Given the description of an element on the screen output the (x, y) to click on. 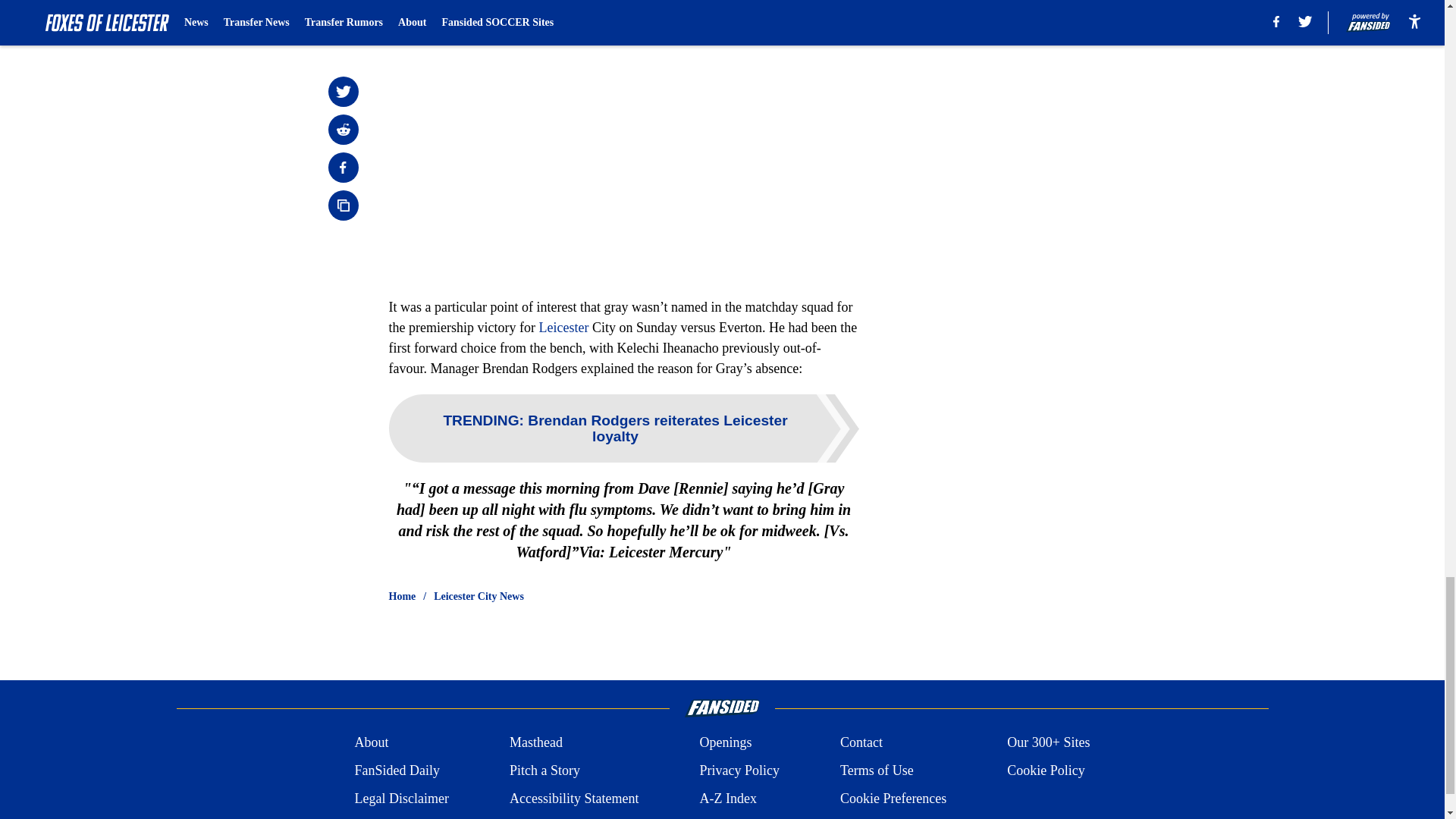
TRENDING: Brendan Rodgers reiterates Leicester loyalty (623, 427)
Legal Disclaimer (400, 798)
Terms of Use (877, 770)
Cookie Preferences (893, 798)
A-Z Index (726, 798)
FanSided Daily (396, 770)
Leicester (563, 327)
Masthead (535, 742)
Privacy Policy (738, 770)
Home (401, 596)
About (370, 742)
Contact (861, 742)
Leicester City News (478, 596)
Openings (724, 742)
Accessibility Statement (574, 798)
